Given the description of an element on the screen output the (x, y) to click on. 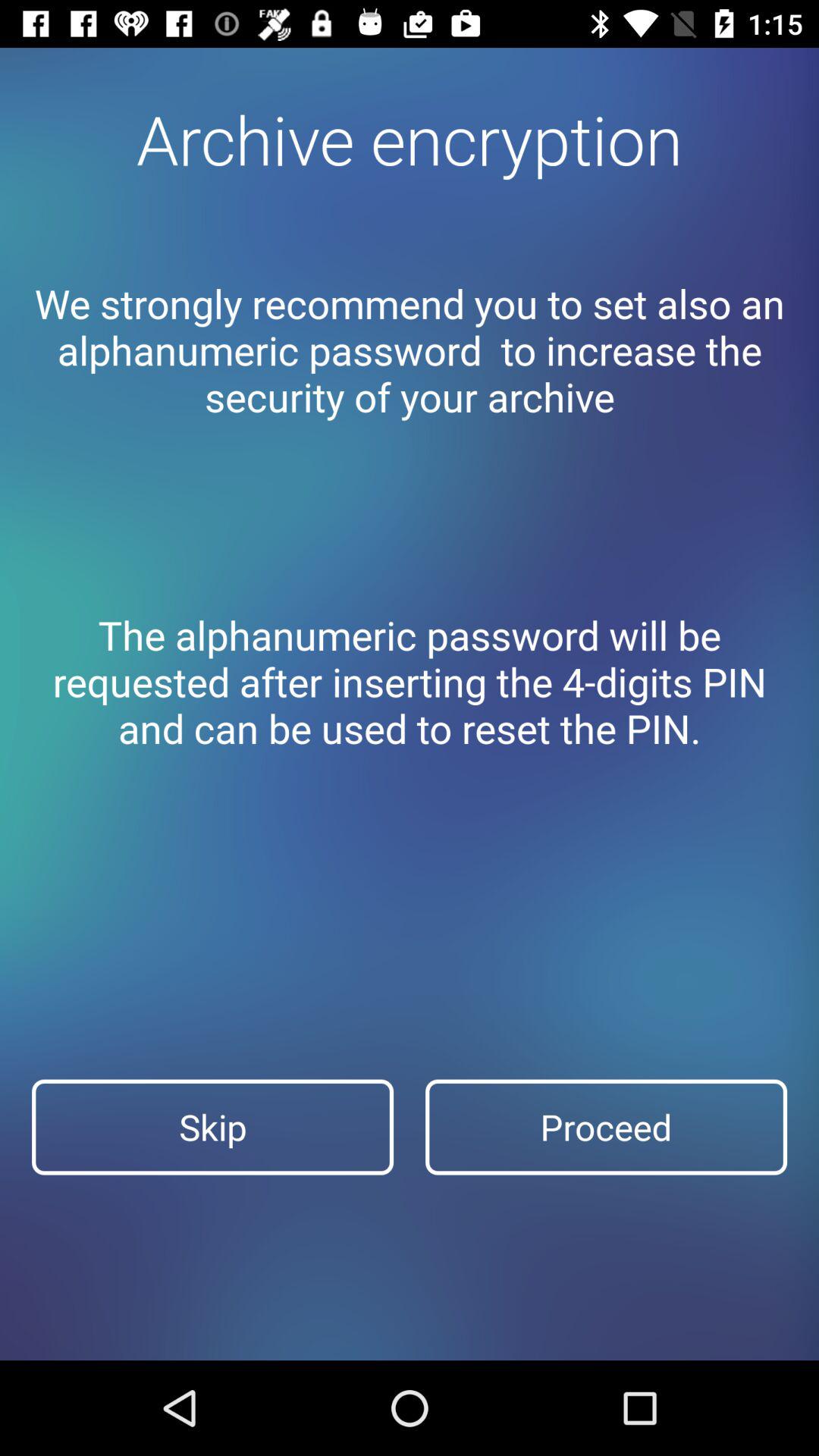
choose skip at the bottom left corner (212, 1127)
